Given the description of an element on the screen output the (x, y) to click on. 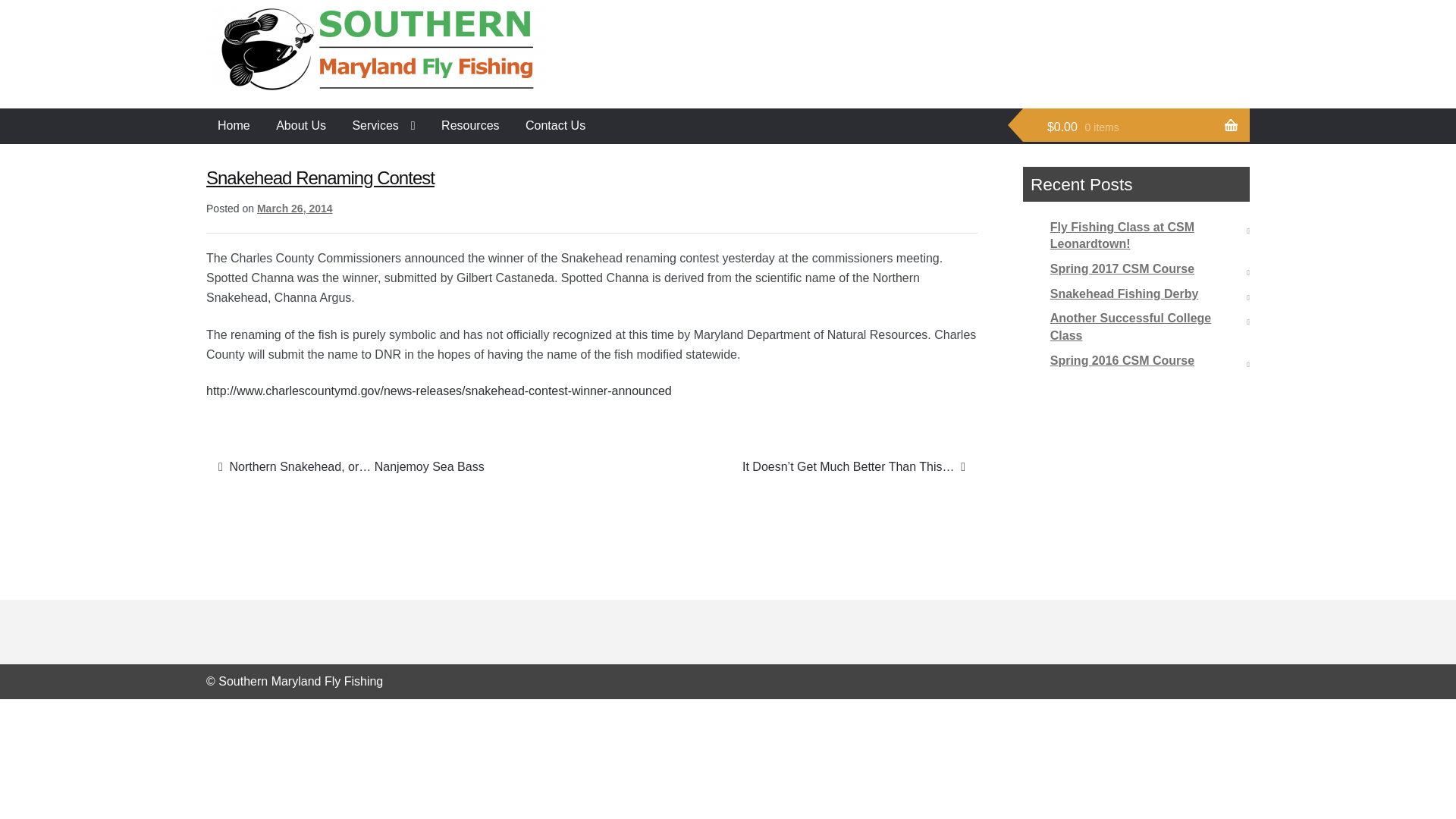
Contact Us (554, 125)
March 26, 2014 (295, 208)
About Us (300, 125)
Spring 2017 CSM Course (1121, 268)
Another Successful College Class (1130, 327)
Spring 2016 CSM Course (1121, 359)
Resources (470, 125)
Fly Fishing Class at CSM Leonardtown! (1121, 235)
Home (234, 125)
